Given the description of an element on the screen output the (x, y) to click on. 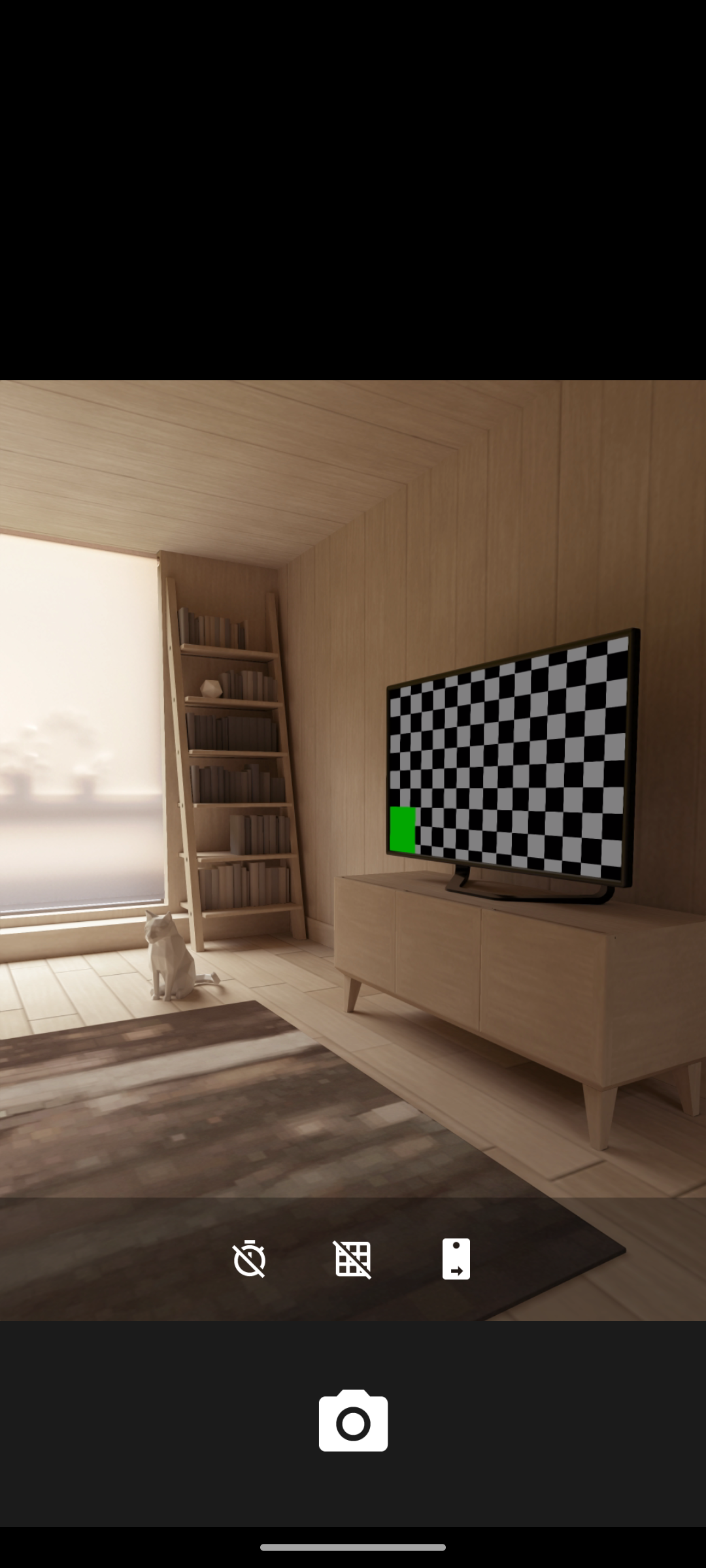
Countdown timer is off (249, 1258)
Grid lines off (352, 1258)
Back camera (456, 1258)
Shutter (353, 1423)
